Given the description of an element on the screen output the (x, y) to click on. 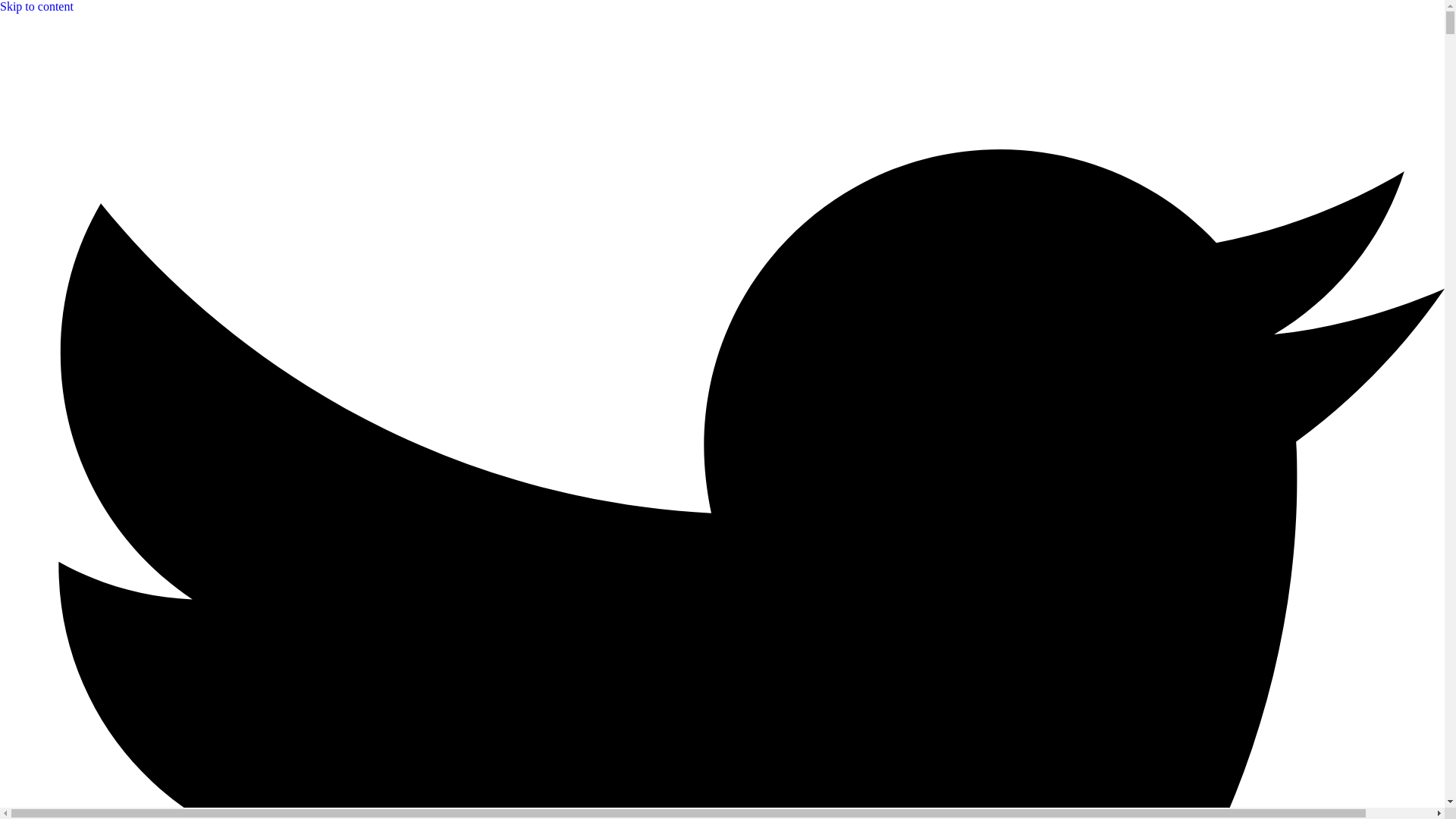
Skip to content (37, 6)
Skip to content (37, 6)
